Given the description of an element on the screen output the (x, y) to click on. 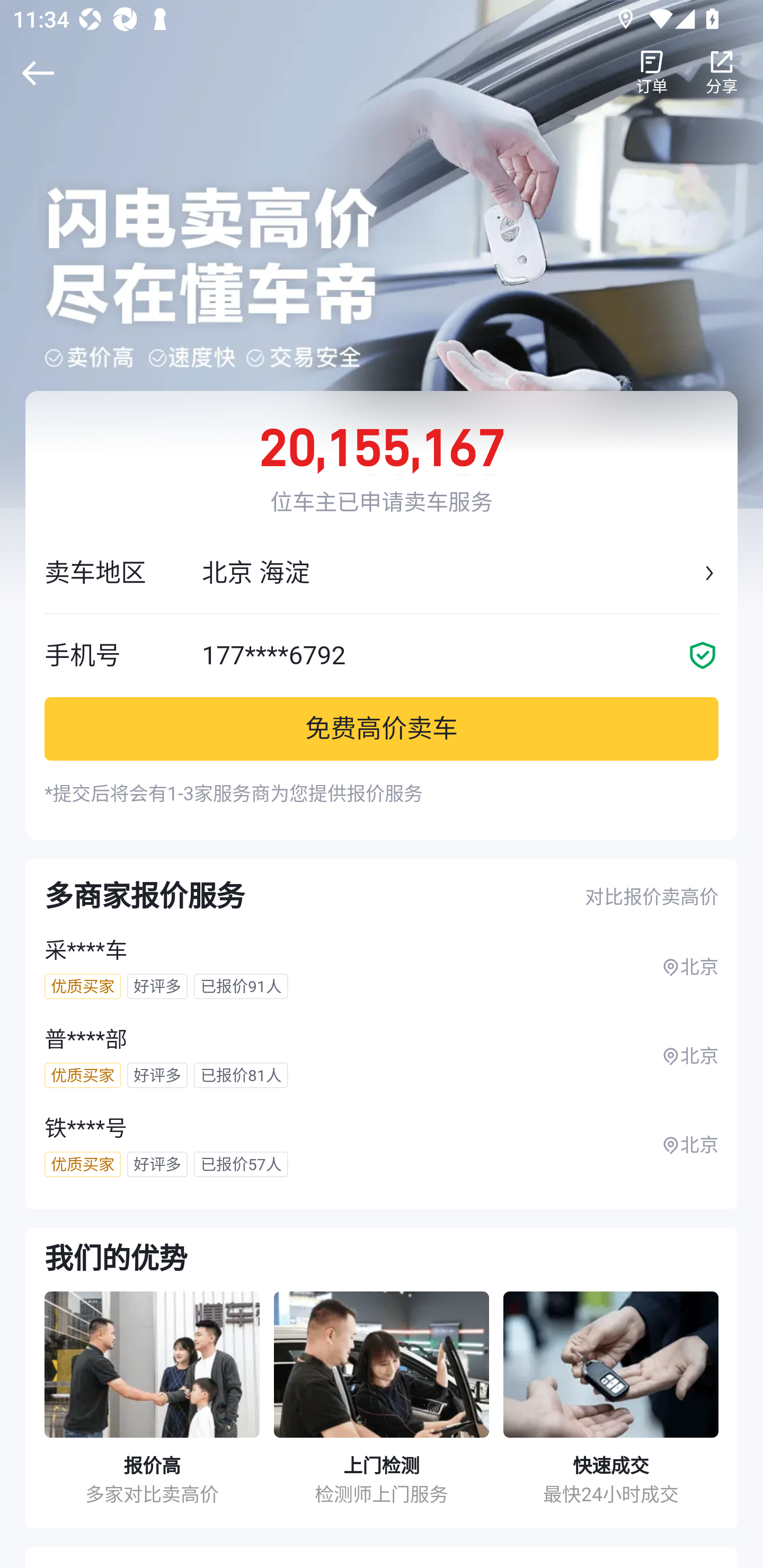
订单 (651, 72)
分享 (721, 72)
北京 海淀 (450, 572)
177****6792 (460, 655)
免费高价卖车 (381, 728)
